Given the description of an element on the screen output the (x, y) to click on. 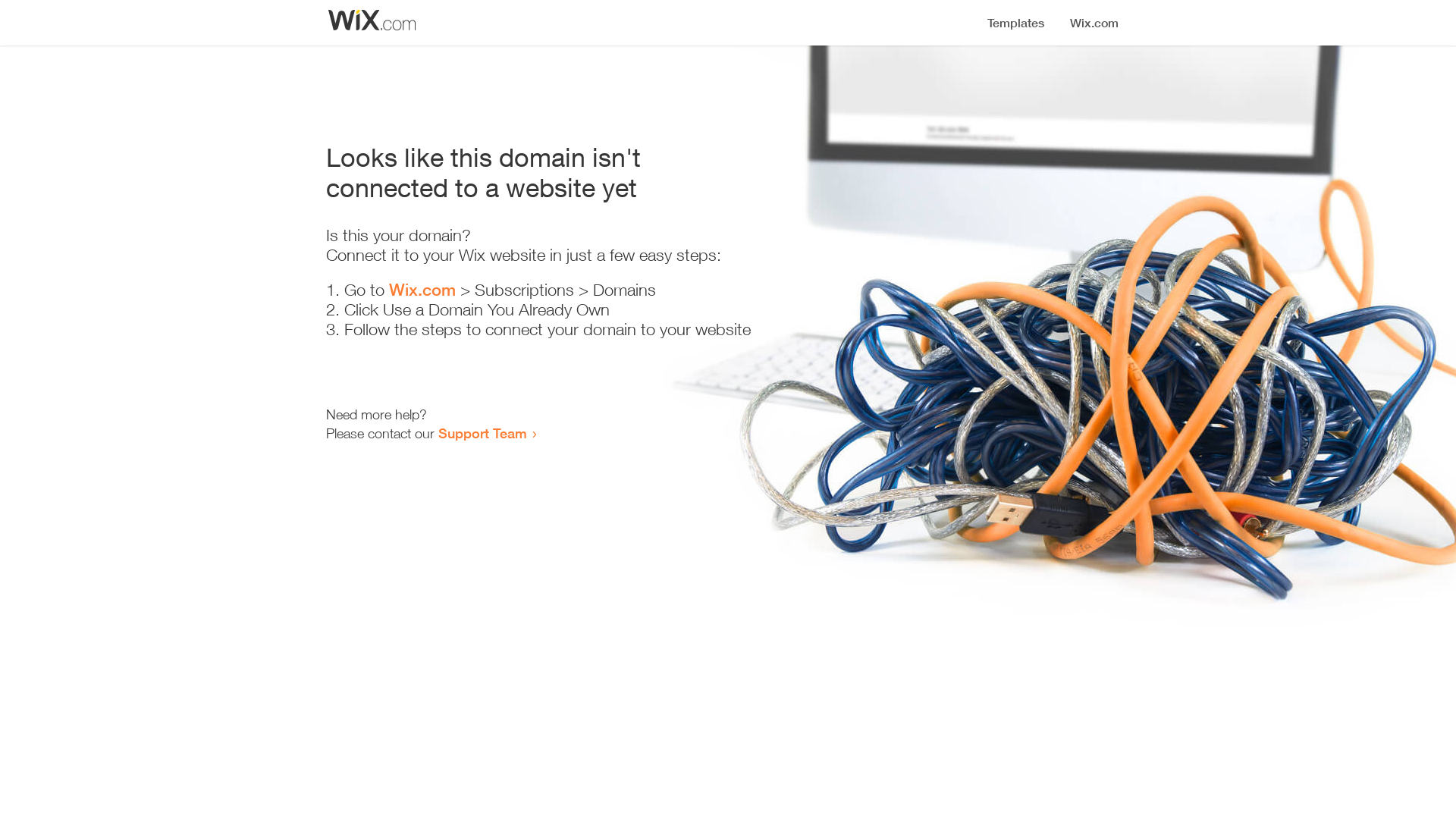
Support Team Element type: text (482, 432)
Wix.com Element type: text (422, 289)
